Given the description of an element on the screen output the (x, y) to click on. 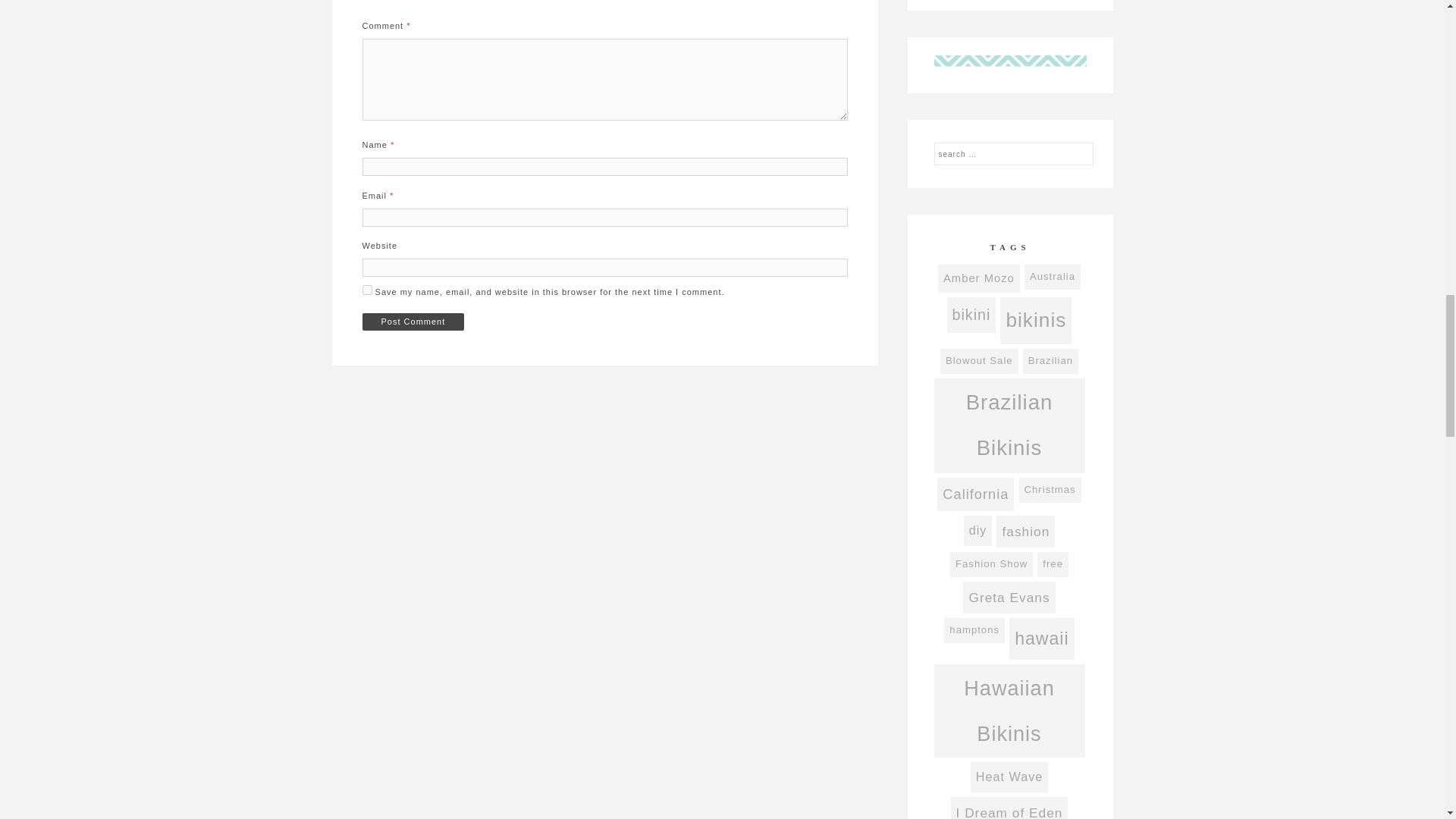
yes (367, 289)
Post Comment (413, 321)
Post Comment (413, 321)
